Given the description of an element on the screen output the (x, y) to click on. 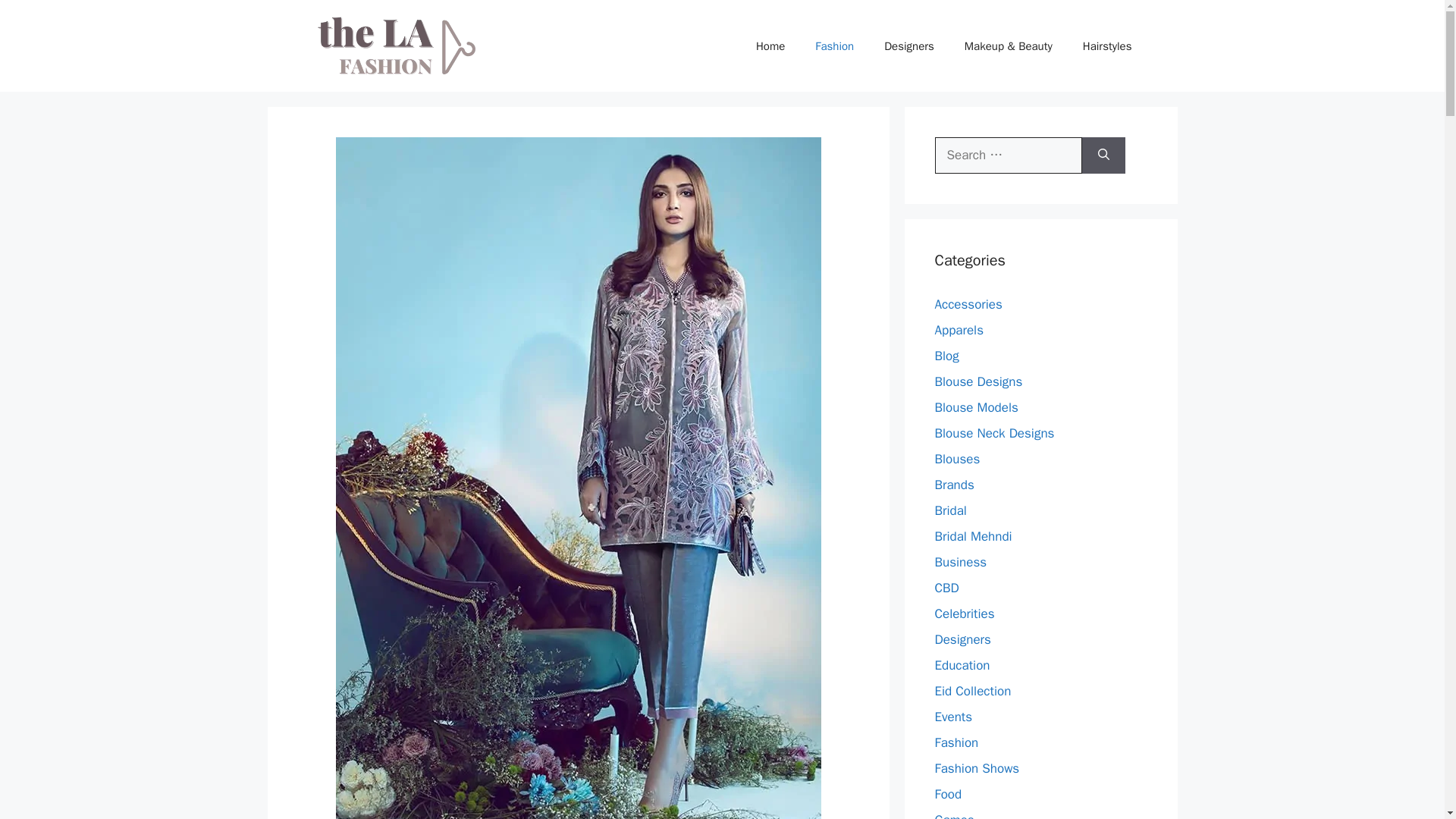
Bridal (950, 510)
Blouse Models (975, 407)
Hairstyles (1107, 45)
Home (770, 45)
Bridal Mehndi (972, 536)
Fashion (834, 45)
Brands (954, 484)
Blog (946, 355)
Search for: (1007, 155)
Apparels (959, 330)
Blouse Designs (978, 381)
Blouses (956, 458)
Designers (909, 45)
CBD (946, 587)
Business (960, 562)
